Given the description of an element on the screen output the (x, y) to click on. 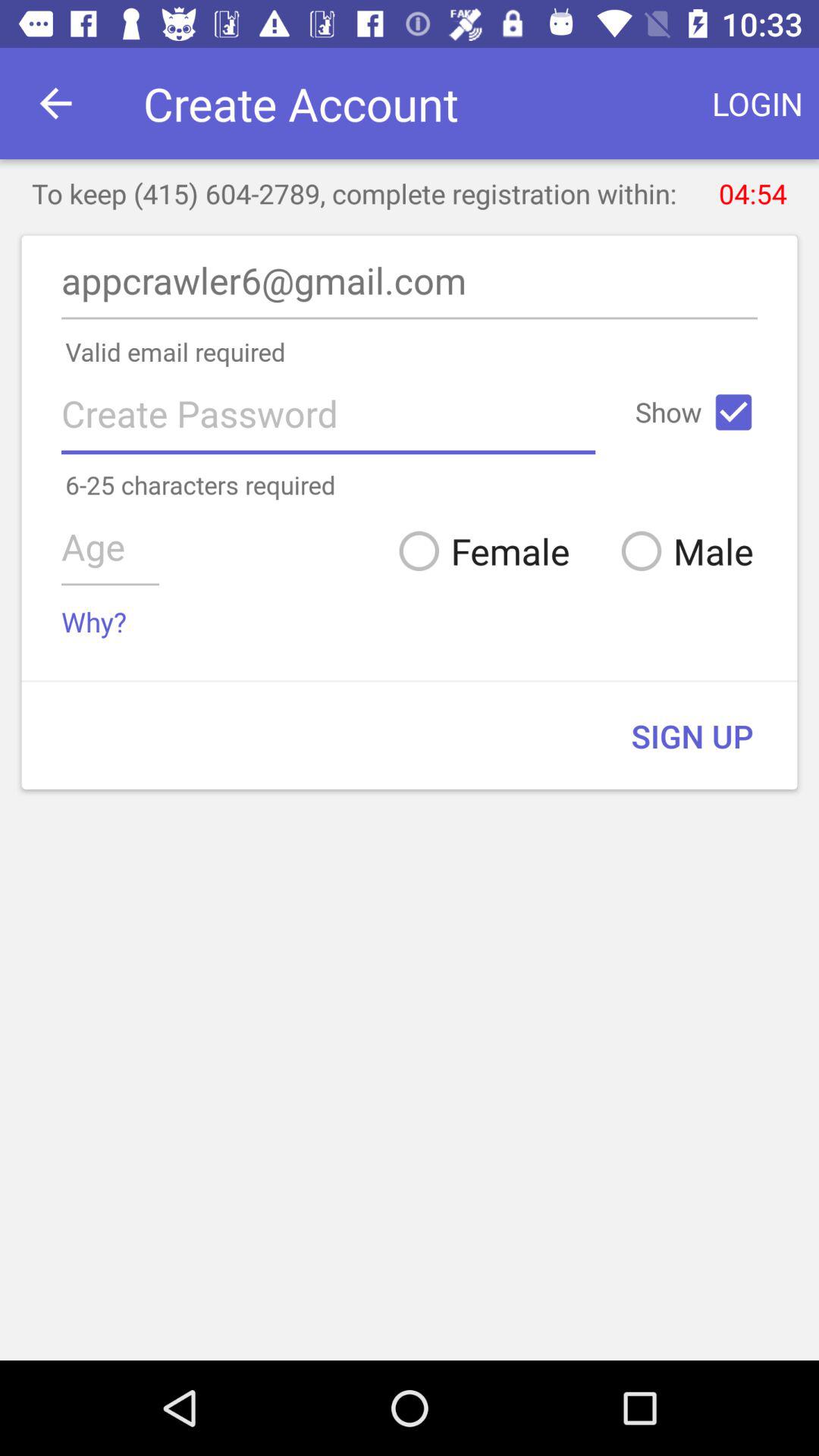
press the icon next to the show icon (733, 412)
